Given the description of an element on the screen output the (x, y) to click on. 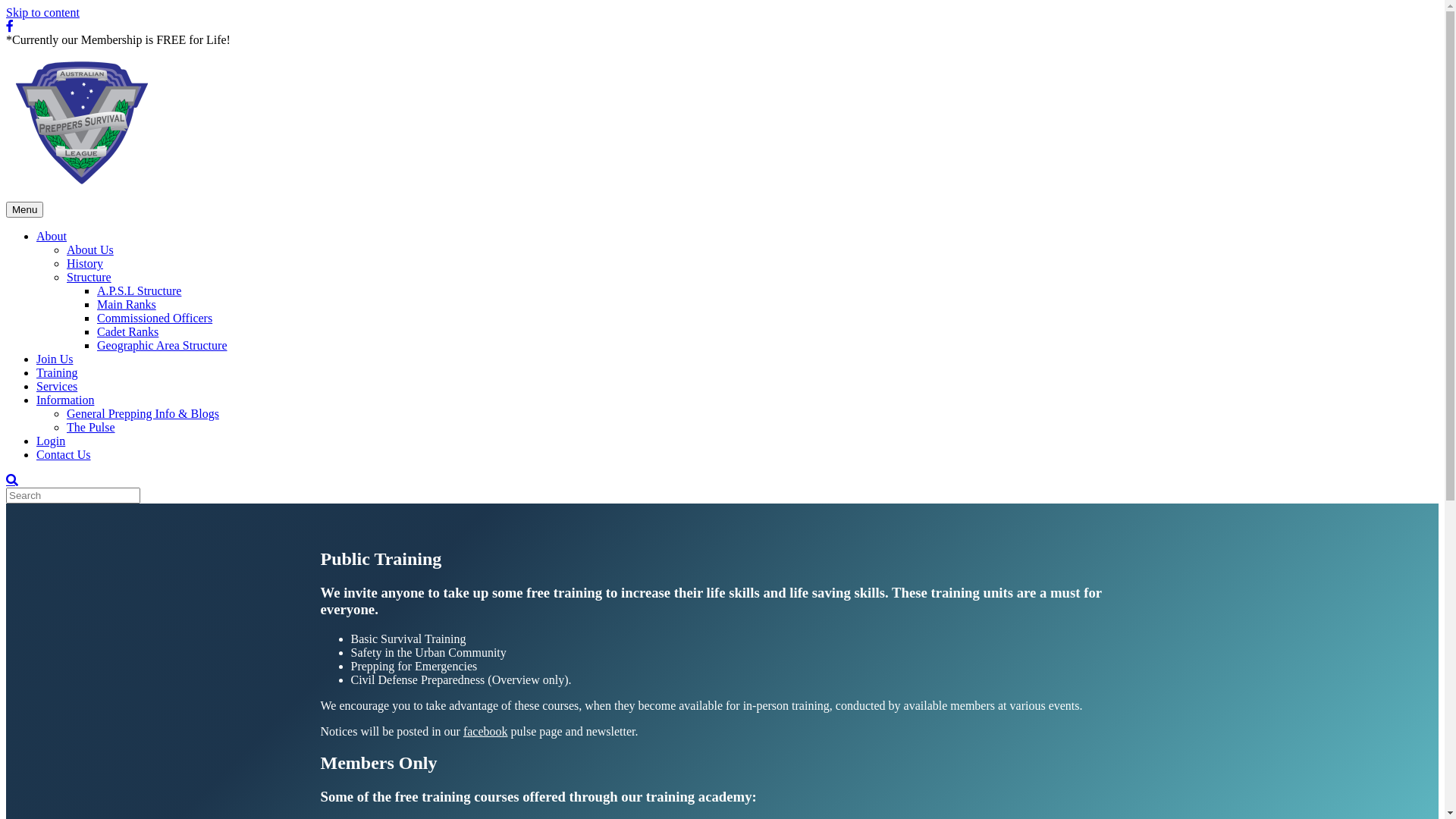
Structure Element type: text (88, 276)
Commissioned Officers Element type: text (154, 317)
History Element type: text (84, 263)
Login Element type: text (50, 440)
General Prepping Info & Blogs Element type: text (142, 413)
About Us Element type: text (89, 249)
Cadet Ranks Element type: text (127, 331)
facebook Element type: text (485, 730)
Menu Element type: text (24, 209)
About Element type: text (51, 235)
A.P.S.L Structure Element type: text (139, 290)
Skip to content Element type: text (42, 12)
Contact Us Element type: text (63, 454)
Main Ranks Element type: text (126, 304)
The Pulse Element type: text (90, 426)
Services Element type: text (56, 385)
Facebook Element type: text (9, 25)
Training Element type: text (57, 372)
Type and press Enter to search. Element type: hover (722, 495)
Information Element type: text (65, 399)
Geographic Area Structure Element type: text (161, 344)
Join Us Element type: text (54, 358)
